Given the description of an element on the screen output the (x, y) to click on. 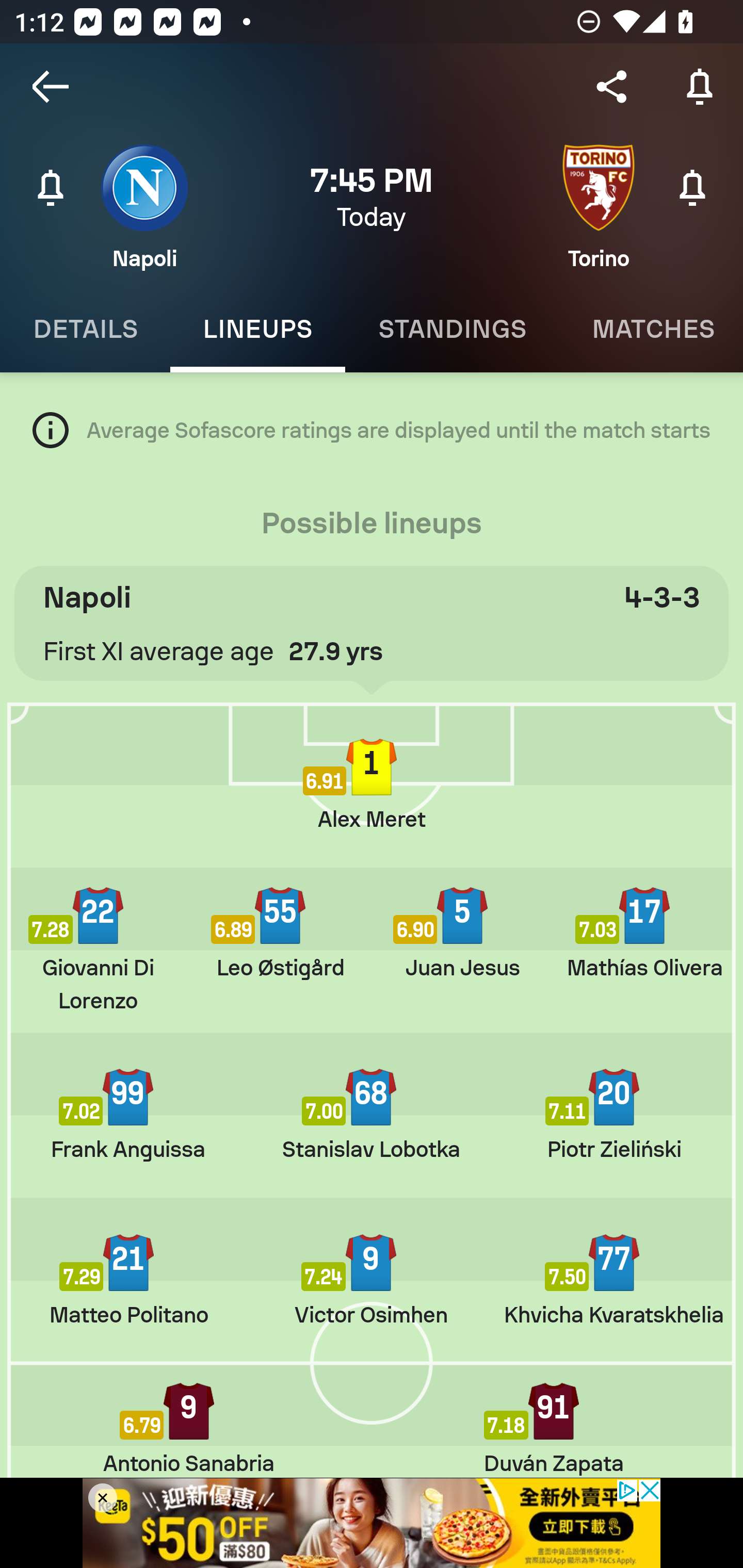
Navigate up (50, 86)
Details DETAILS (85, 329)
Standings STANDINGS (451, 329)
Matches MATCHES (650, 329)
Alex Meret (371, 784)
Giovanni Di Lorenzo (98, 948)
Leo Østigård (279, 932)
Juan Jesus (461, 932)
Mathías Olivera (644, 932)
Frank Anguissa (128, 1114)
Stanislav Lobotka (370, 1114)
Piotr Zieliński (613, 1114)
Matteo Politano (128, 1281)
Victor Osimhen (371, 1281)
Khvicha Kvaratskhelia (613, 1281)
Antonio Sanabria (188, 1428)
Duván Zapata (553, 1428)
o86KnEM_1693809238275_0 (371, 1522)
